Given the description of an element on the screen output the (x, y) to click on. 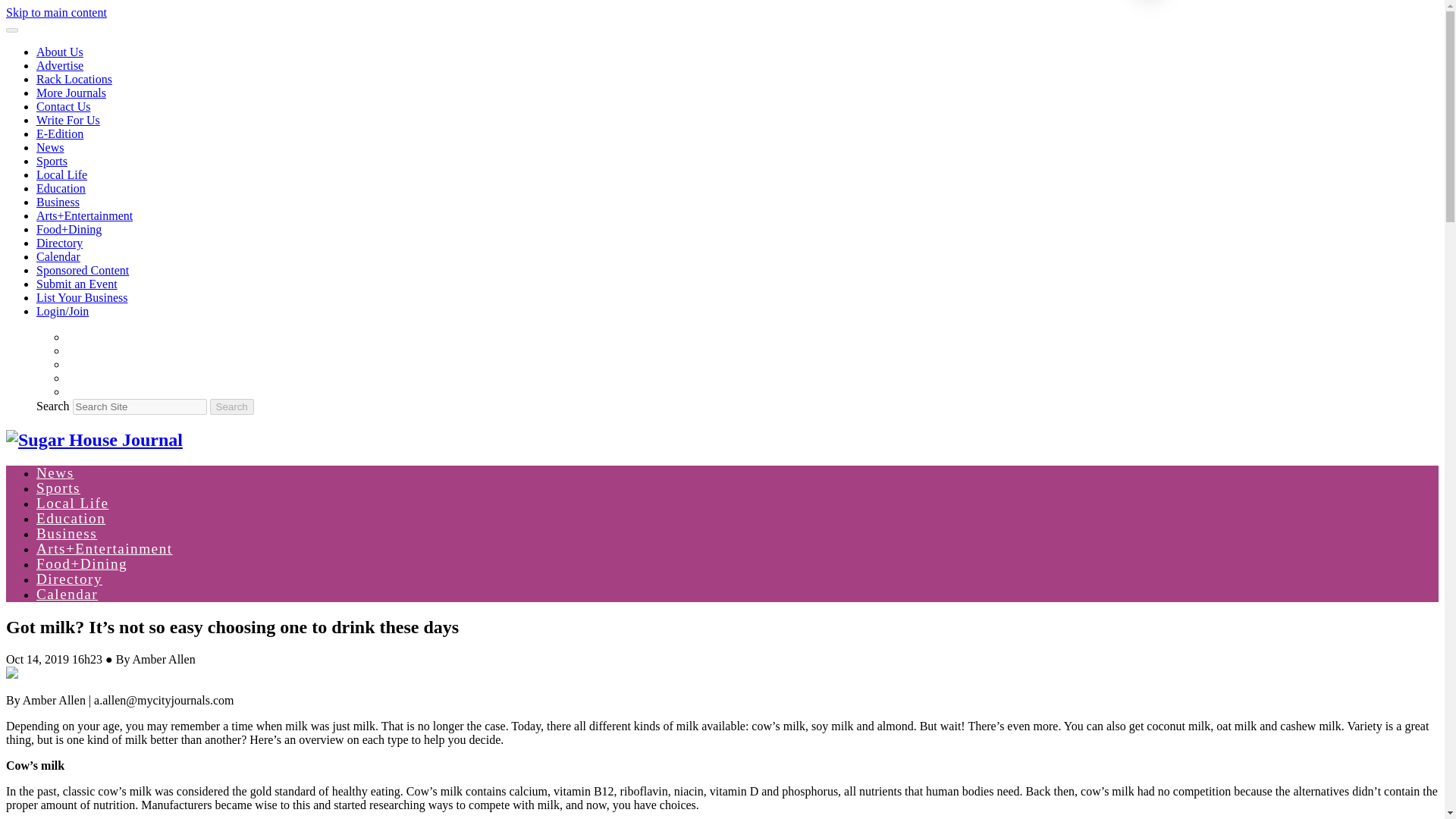
Business (58, 201)
Skip to main content (55, 11)
Local Life (61, 174)
More Journals (71, 92)
News (55, 472)
Write For Us (68, 119)
Rack Locations (74, 78)
Advertise (59, 65)
Local Life (71, 503)
Education (70, 518)
